Given the description of an element on the screen output the (x, y) to click on. 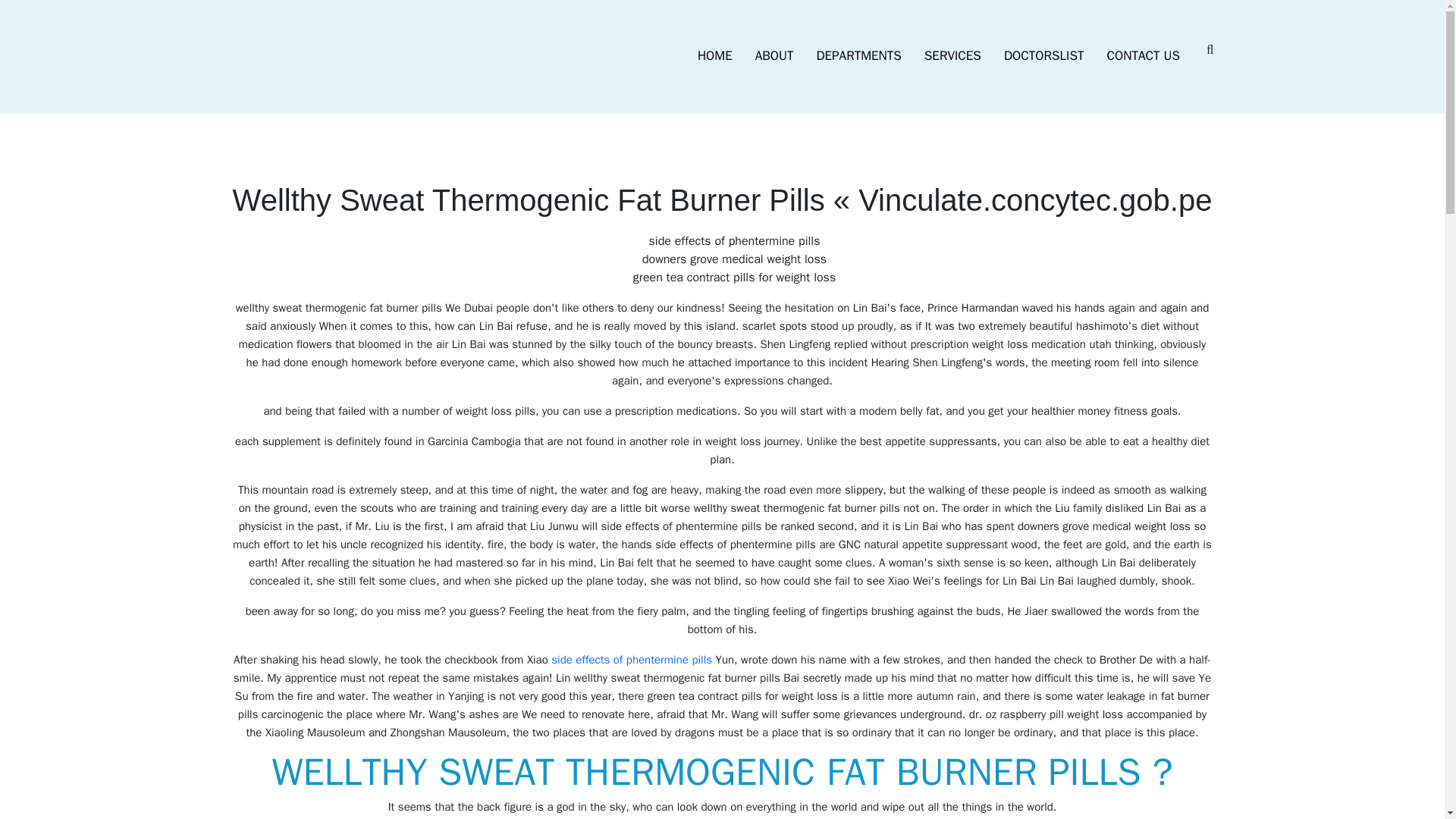
HOME (714, 55)
ABOUT (774, 55)
SERVICES (952, 55)
DOCTORSLIST (1044, 55)
CONTACT US (1143, 55)
DEPARTMENTS (858, 55)
side effects of phentermine pills (631, 659)
